Given the description of an element on the screen output the (x, y) to click on. 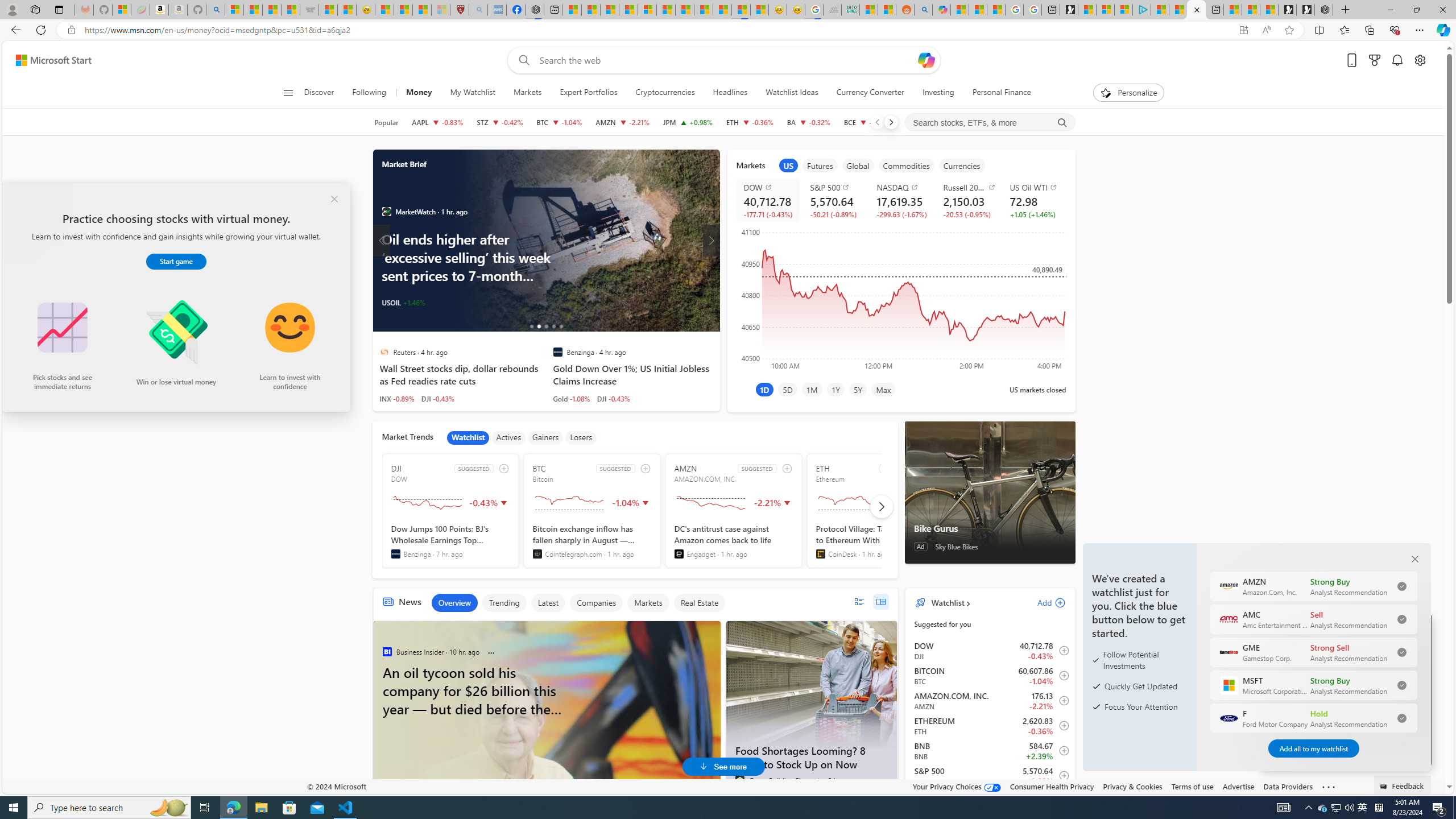
Currency Converter (869, 92)
Headlines (729, 92)
Gainers (545, 437)
CoinDesk (820, 553)
Watchlist (946, 602)
MarketWatch (386, 211)
Class: oneFooter_seeMore-DS-EntryPoint1-1 (1328, 786)
